Given the description of an element on the screen output the (x, y) to click on. 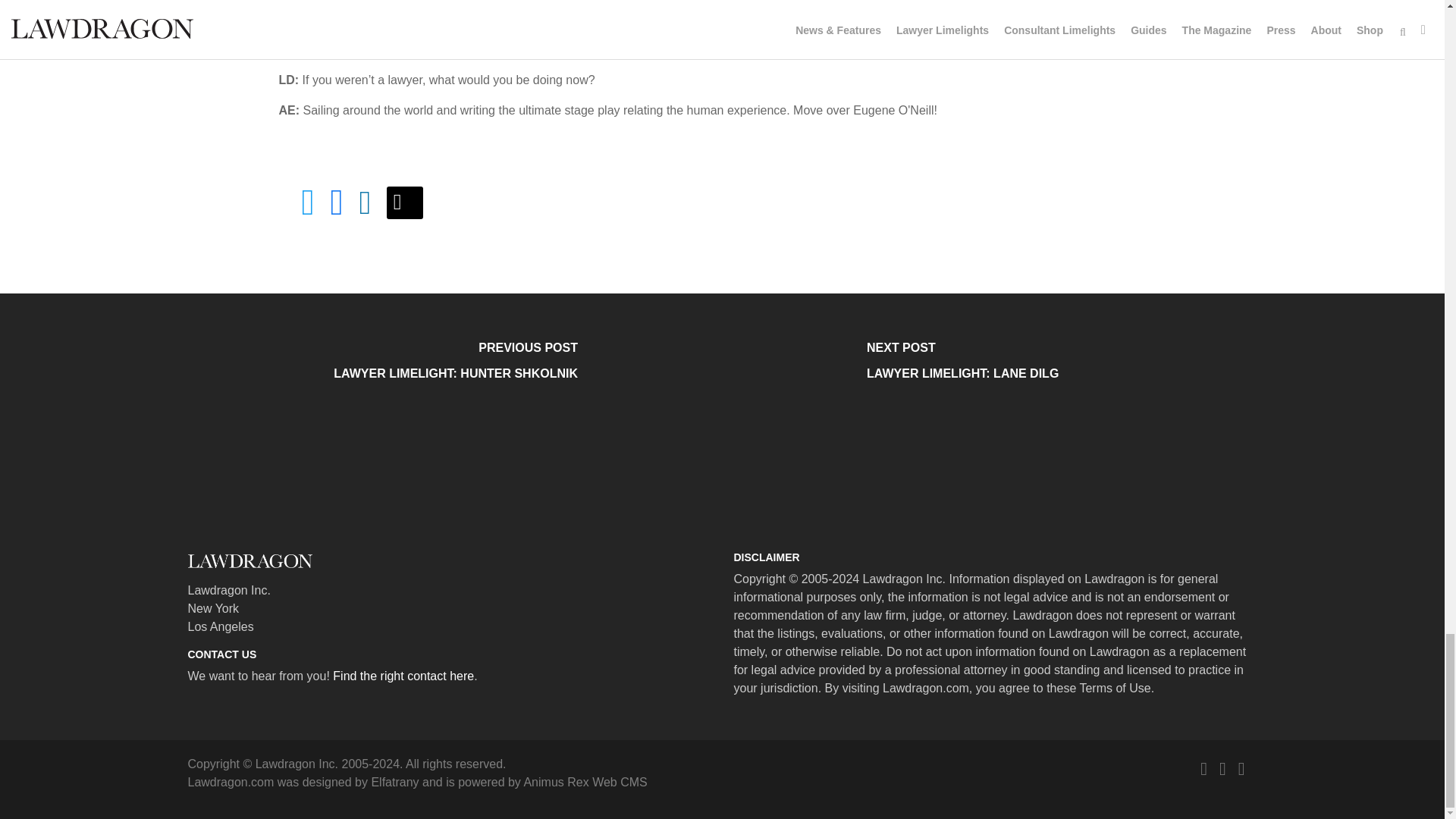
Twitter (1203, 768)
Animus Rex Web CMS (584, 781)
Facebook (1222, 768)
Elfatrany (395, 781)
Email (405, 202)
LinkedIn (1241, 768)
